Given the description of an element on the screen output the (x, y) to click on. 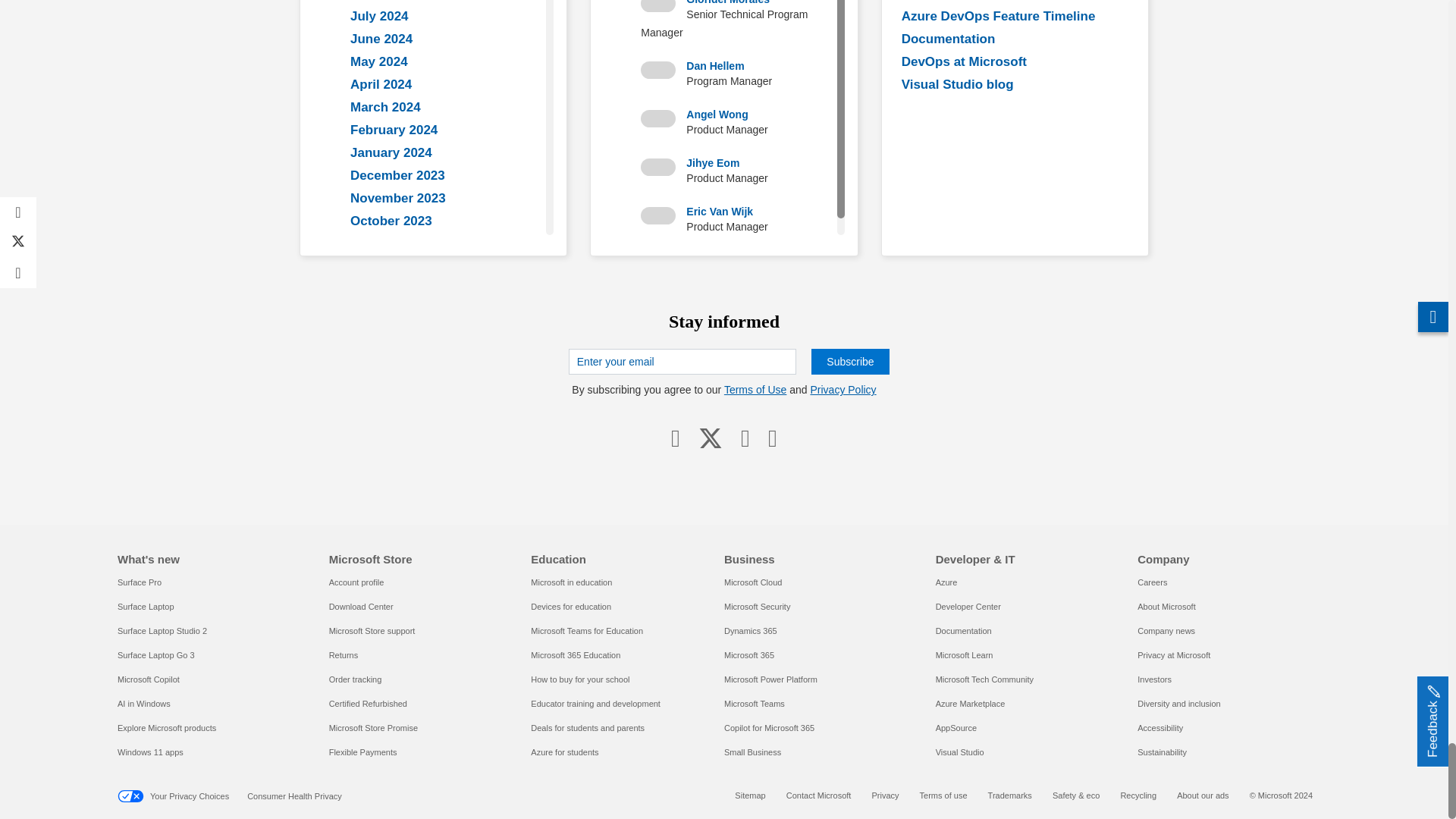
Subscribe (849, 361)
